Given the description of an element on the screen output the (x, y) to click on. 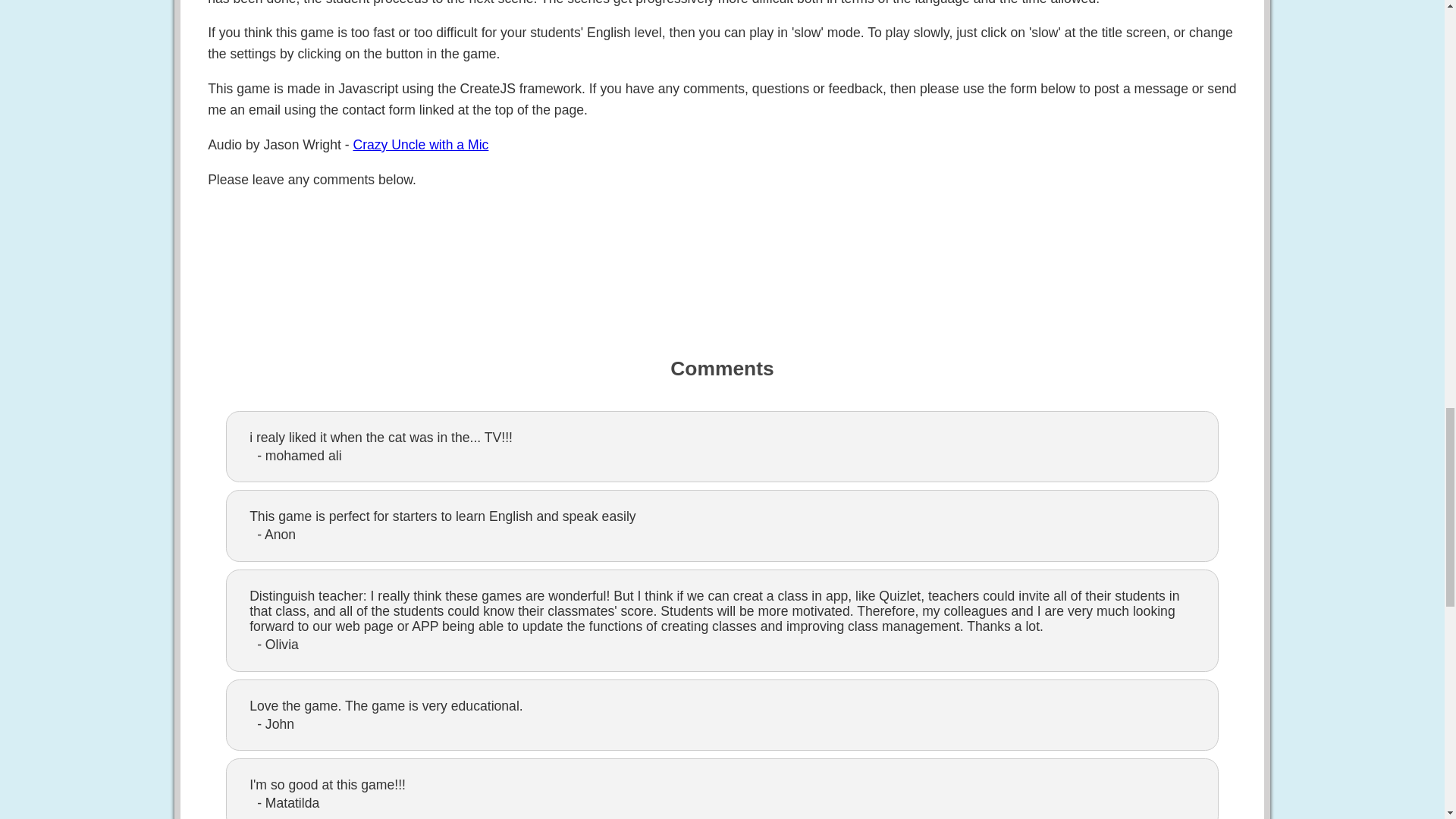
Crazy Uncle with a Mic (419, 144)
